Given the description of an element on the screen output the (x, y) to click on. 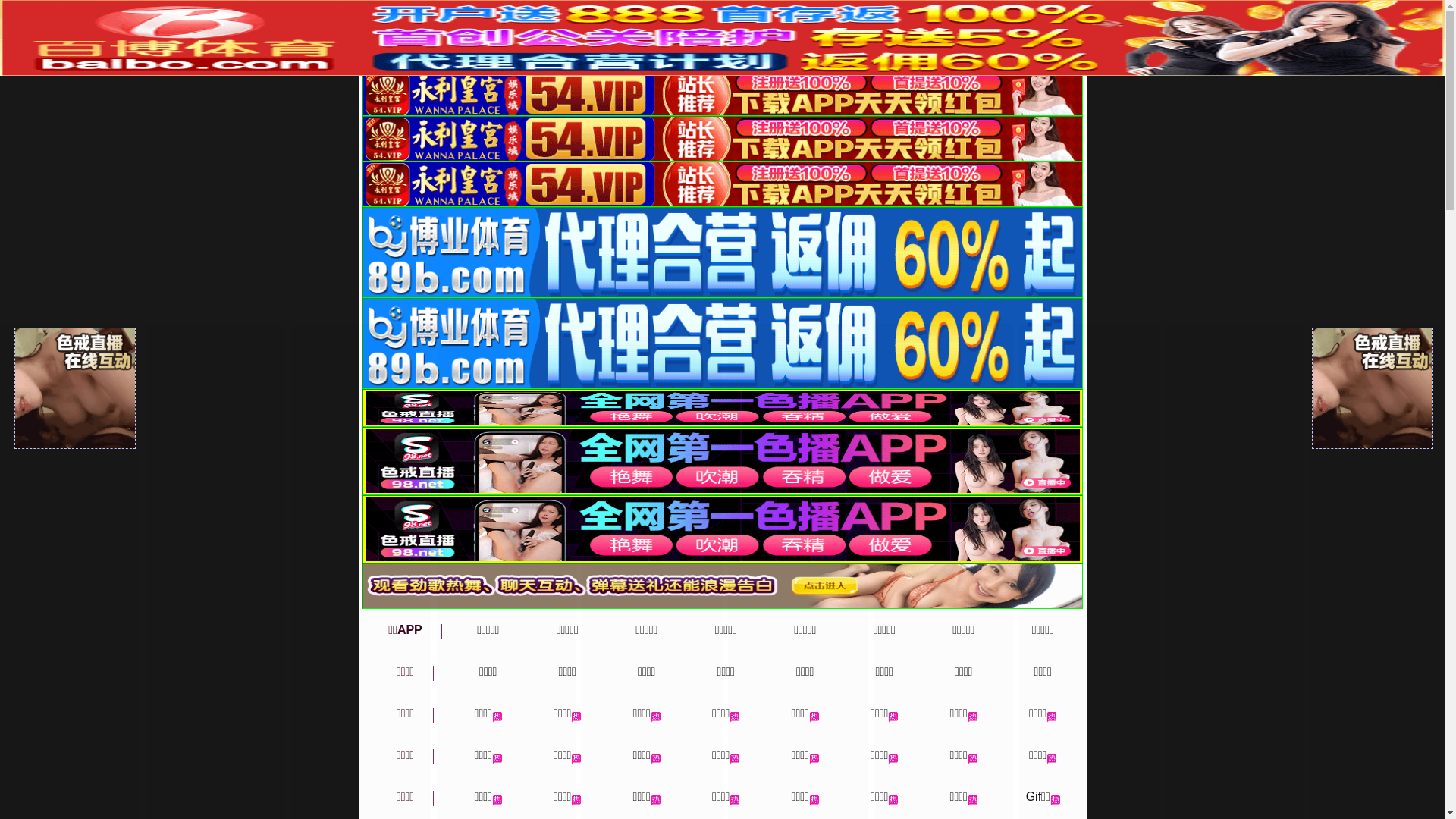
11or11.com Element type: text (421, 34)
AD Element type: hover (722, 37)
